Given the description of an element on the screen output the (x, y) to click on. 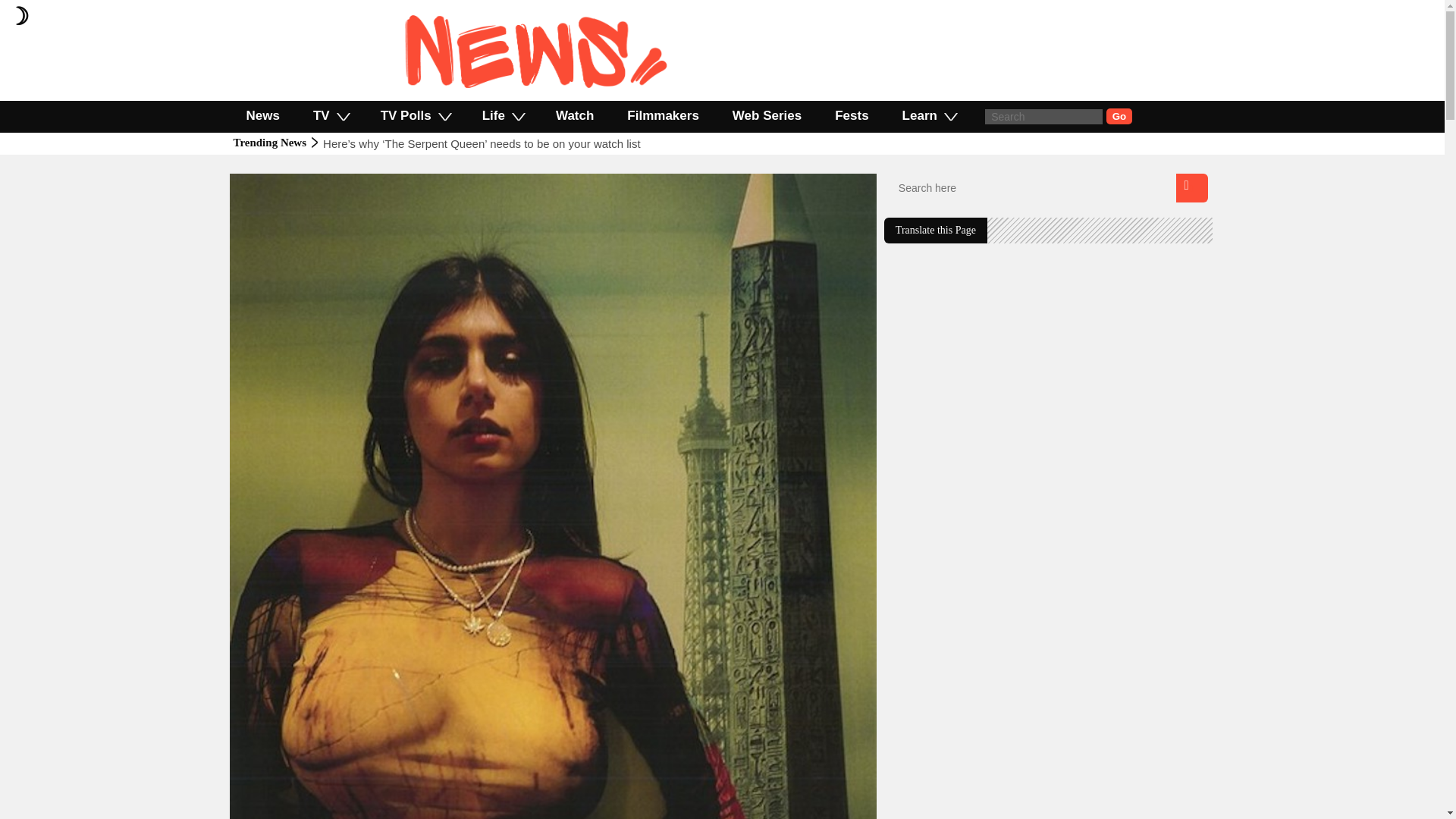
Fests (851, 115)
TV (330, 115)
News (295, 180)
Go (1119, 116)
Life (501, 115)
Fashion (258, 180)
Web Series (767, 115)
Go (1119, 116)
News (261, 115)
Filmmakers (663, 115)
Go (1119, 116)
Learn (928, 115)
Watch (574, 115)
TV Polls (414, 115)
